Given the description of an element on the screen output the (x, y) to click on. 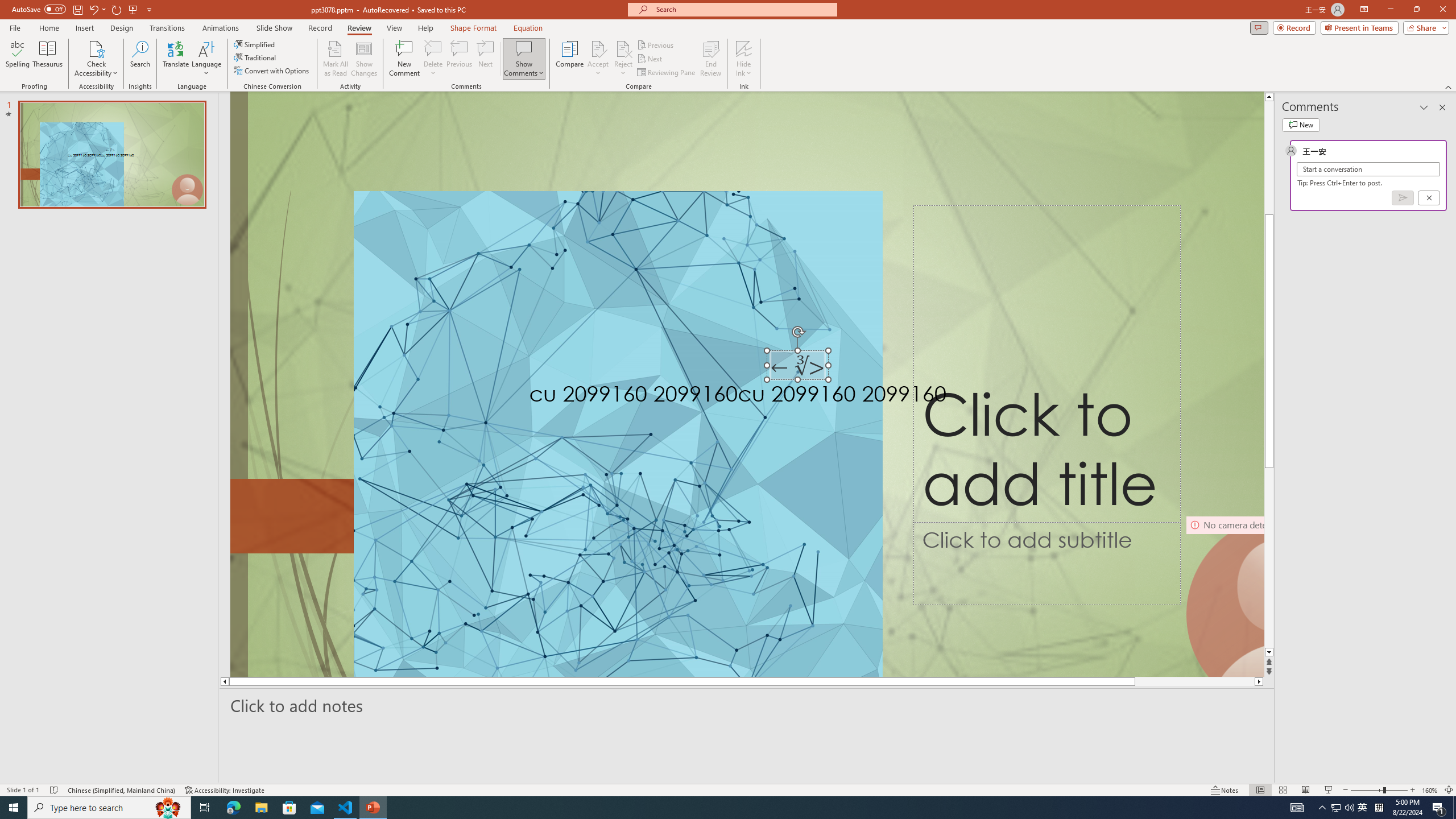
New Comment (403, 58)
Equation (528, 28)
Next (649, 58)
